Given the description of an element on the screen output the (x, y) to click on. 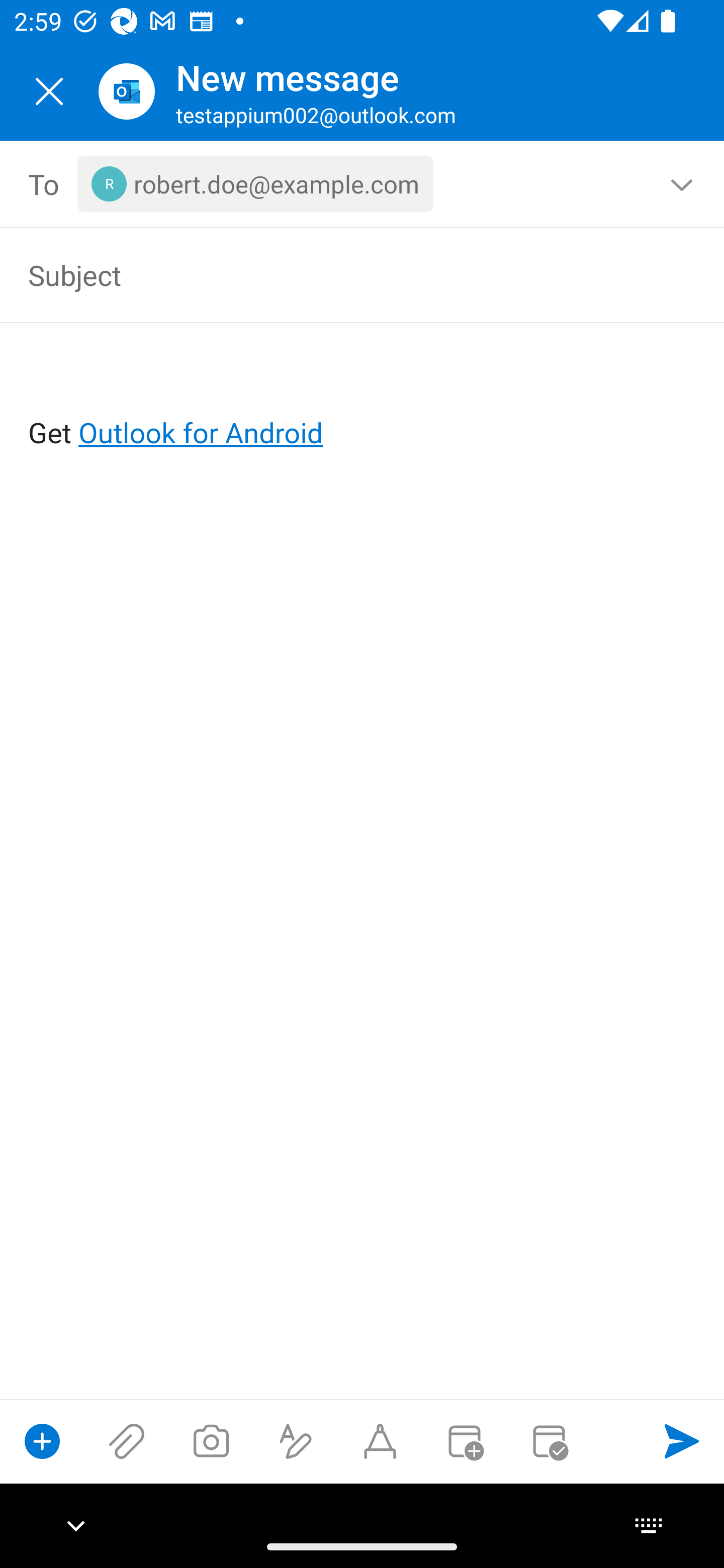
Close (49, 91)
To, 1 recipient <robert.doe@example.com> (362, 184)
Subject (333, 274)


Get Outlook for Android (363, 400)
Show compose options (42, 1440)
Attach files (126, 1440)
Take a photo (210, 1440)
Show formatting options (295, 1440)
Start Ink compose (380, 1440)
Convert to event (464, 1440)
Send availability (548, 1440)
Send (681, 1440)
